Given the description of an element on the screen output the (x, y) to click on. 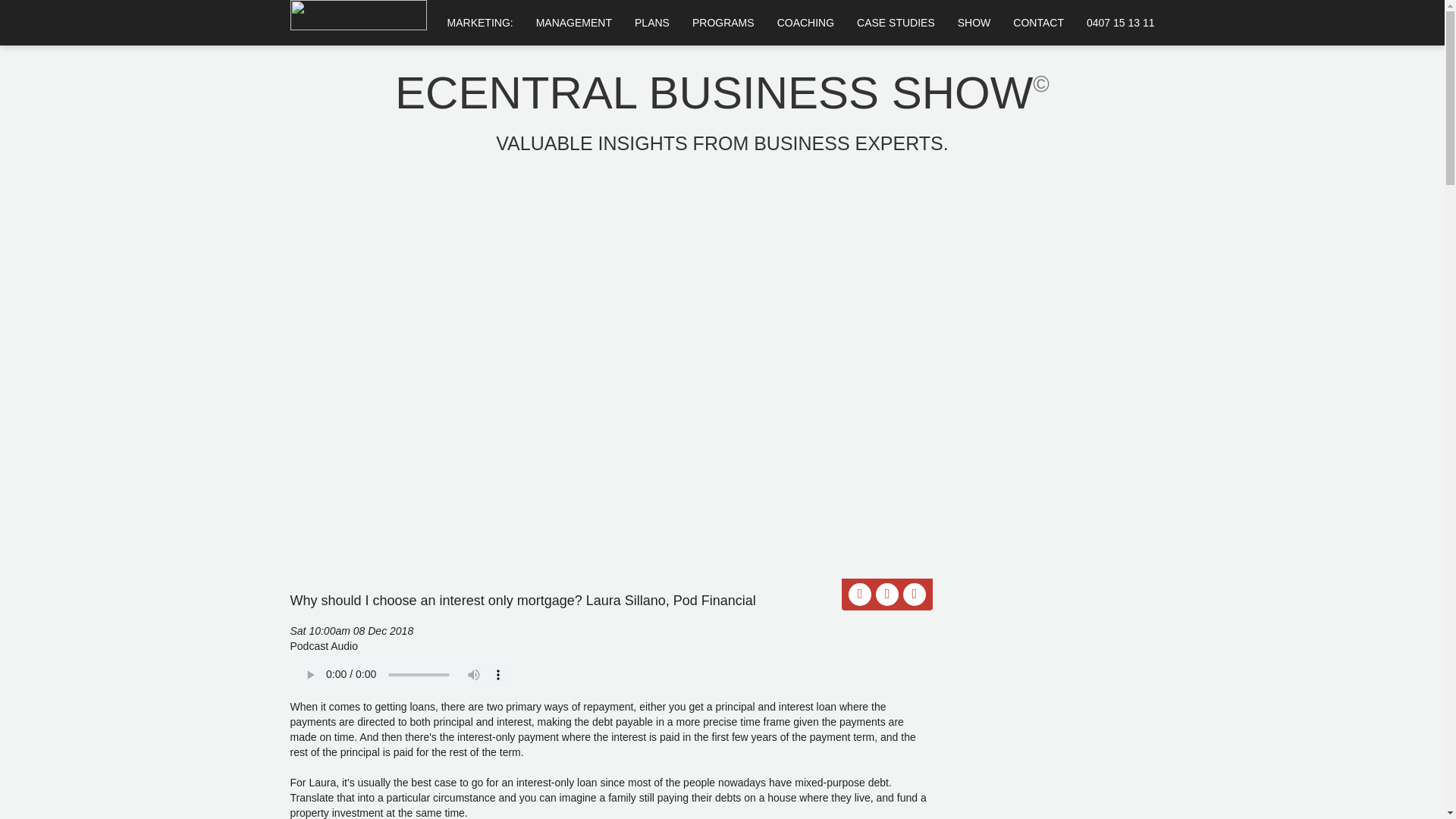
CONTACT (1038, 22)
COACHING (805, 22)
SHOW (974, 22)
PLANS (652, 22)
0407 15 13 11 (1120, 22)
PROGRAMS (723, 22)
MANAGEMENT (573, 22)
MARKETING: (479, 22)
CASE STUDIES (895, 22)
